Given the description of an element on the screen output the (x, y) to click on. 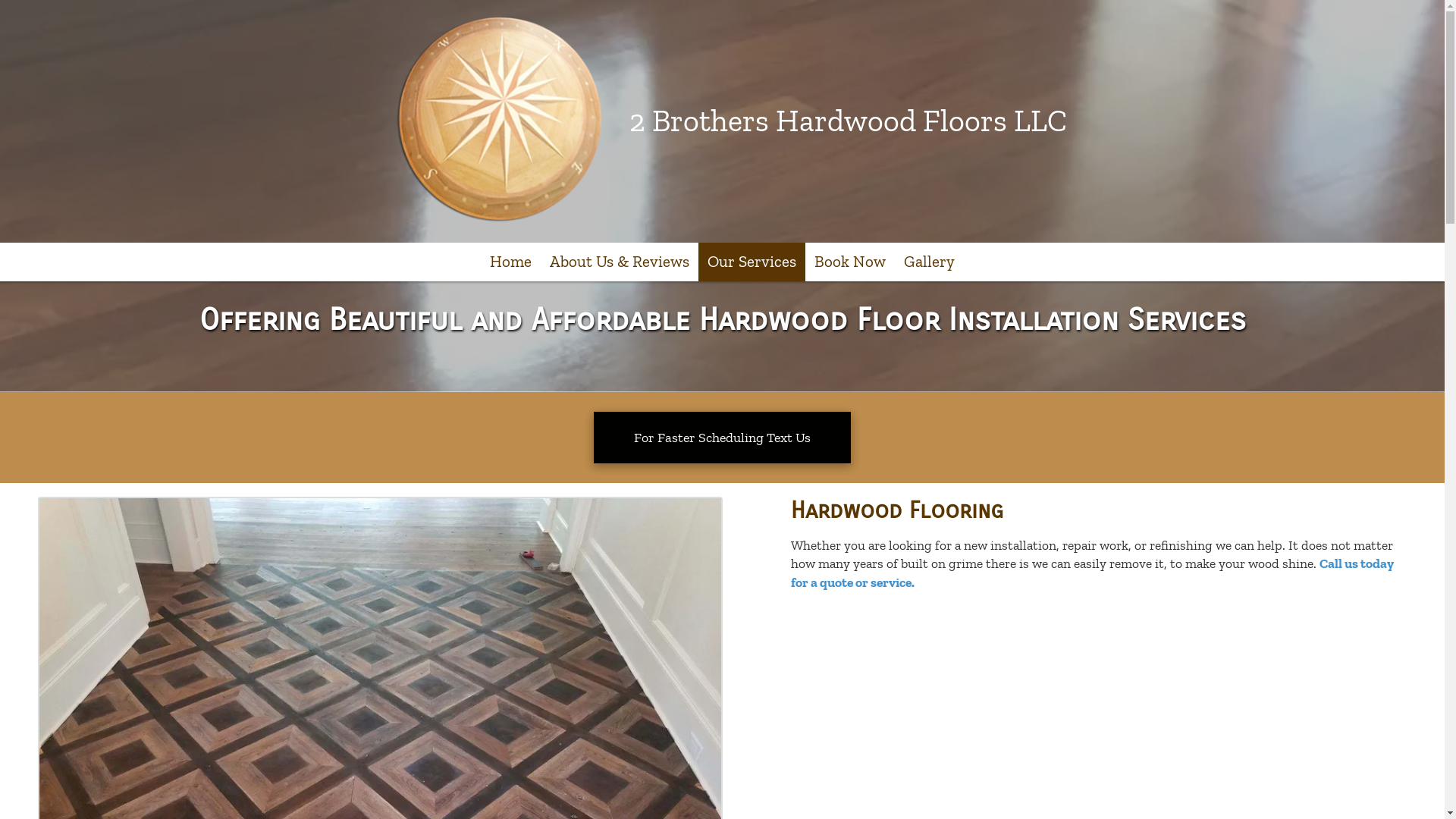
Book Now Element type: text (849, 261)
For Faster Scheduling Text Us Element type: text (721, 437)
Home Element type: text (510, 261)
About Us & Reviews Element type: text (619, 261)
2 Brothers Hardwood Floors LLC Element type: text (847, 120)
Gallery Element type: text (928, 261)
Our Services Element type: text (751, 261)
Call us today for a quote or service. Element type: text (1091, 572)
